Given the description of an element on the screen output the (x, y) to click on. 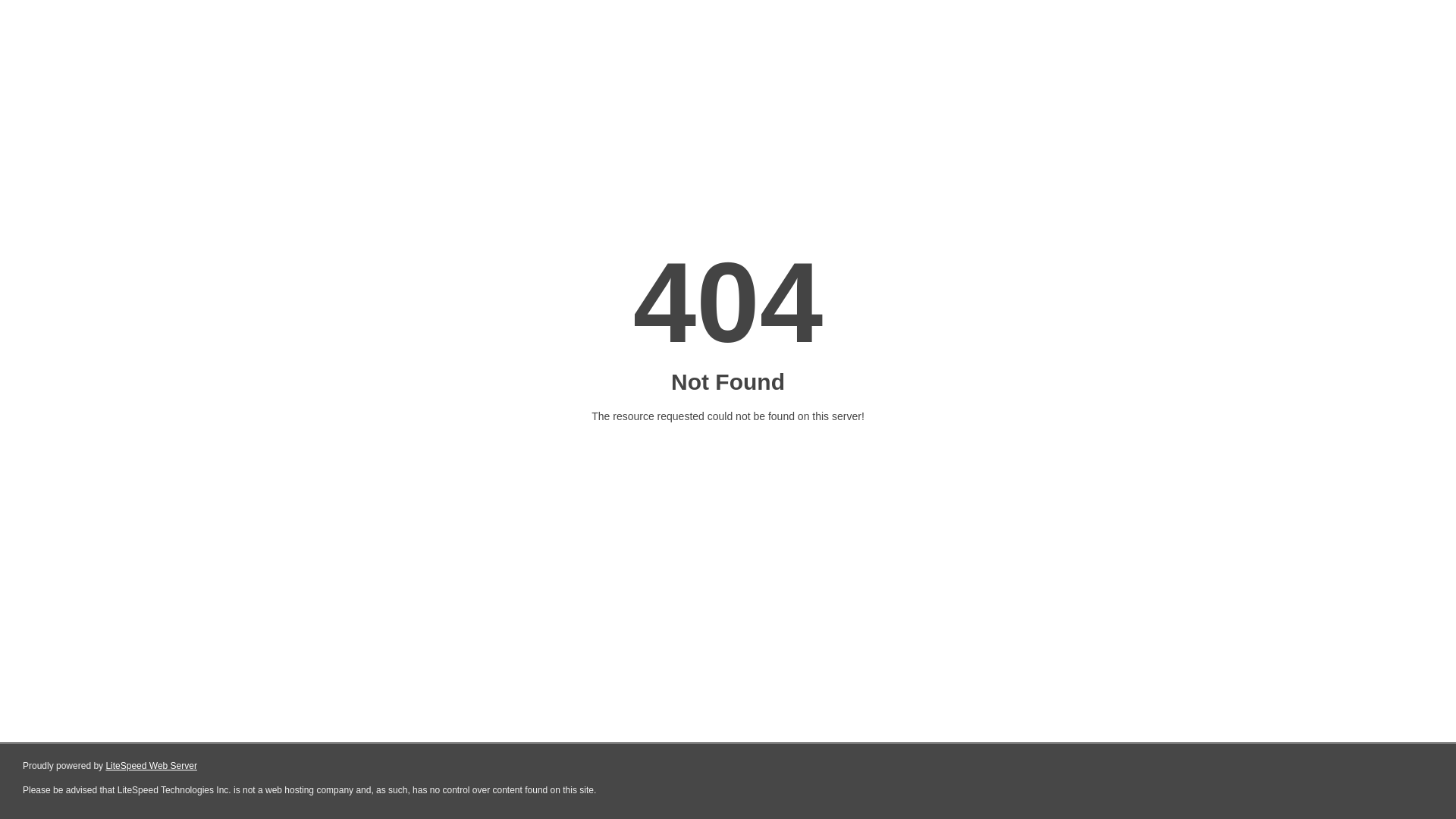
LiteSpeed Web Server Element type: text (151, 765)
